Given the description of an element on the screen output the (x, y) to click on. 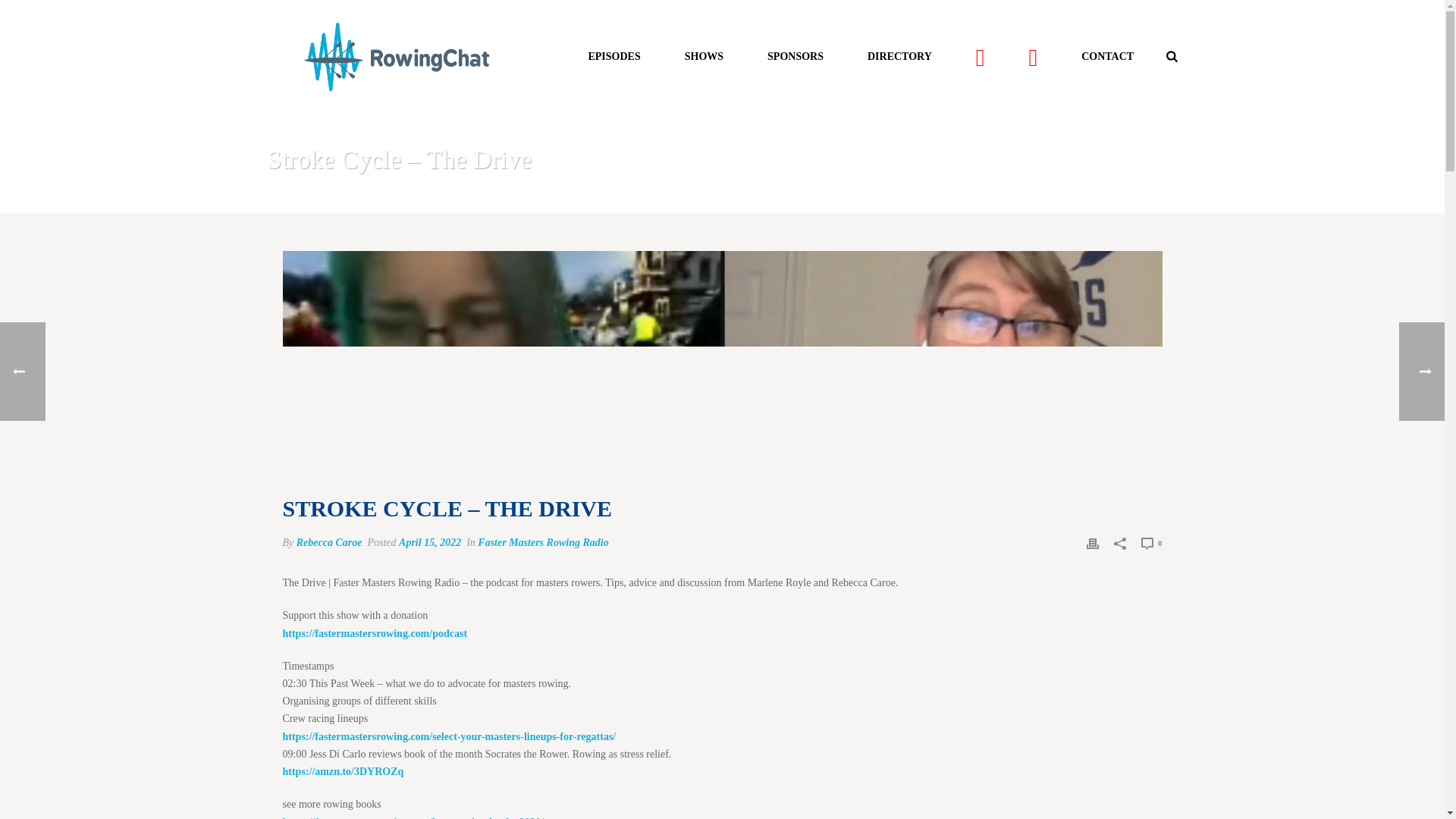
Faster Masters Rowing Radio (542, 542)
DIRECTORY (899, 55)
EPISODES (992, 198)
CONTACT (1107, 55)
HOME (947, 198)
0 (1151, 542)
SHOWS (703, 55)
CONTACT (1107, 55)
April 15, 2022 (429, 542)
SPONSORS (795, 55)
